Given the description of an element on the screen output the (x, y) to click on. 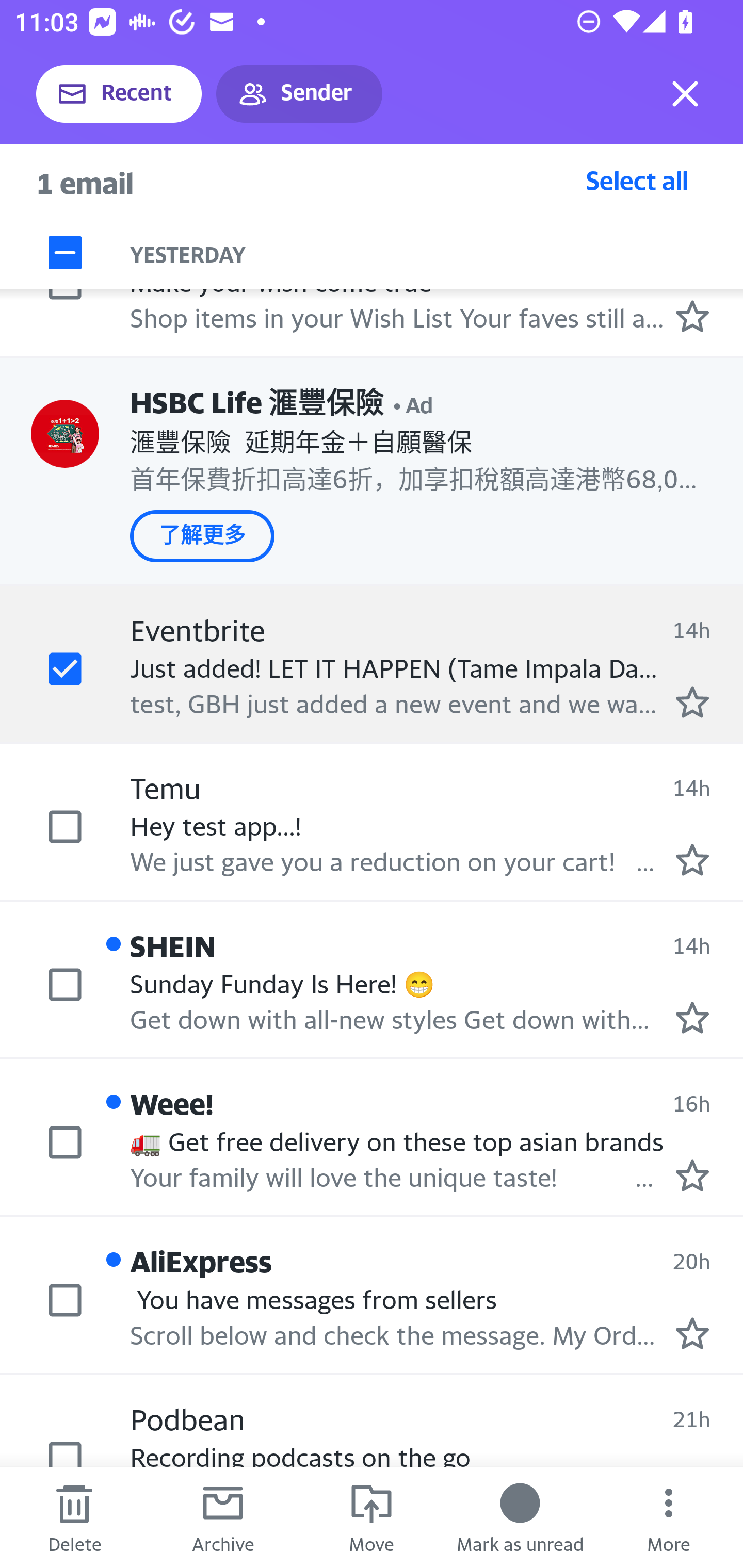
Sender (299, 93)
Exit selection mode (684, 93)
Select all (637, 180)
Mark as starred. (692, 315)
Mark as starred. (692, 701)
Mark as starred. (692, 860)
Mark as starred. (692, 1018)
Mark as starred. (692, 1175)
Mark as starred. (692, 1333)
Delete (74, 1517)
Archive (222, 1517)
Move (371, 1517)
Mark as unread (519, 1517)
More (668, 1517)
